Given the description of an element on the screen output the (x, y) to click on. 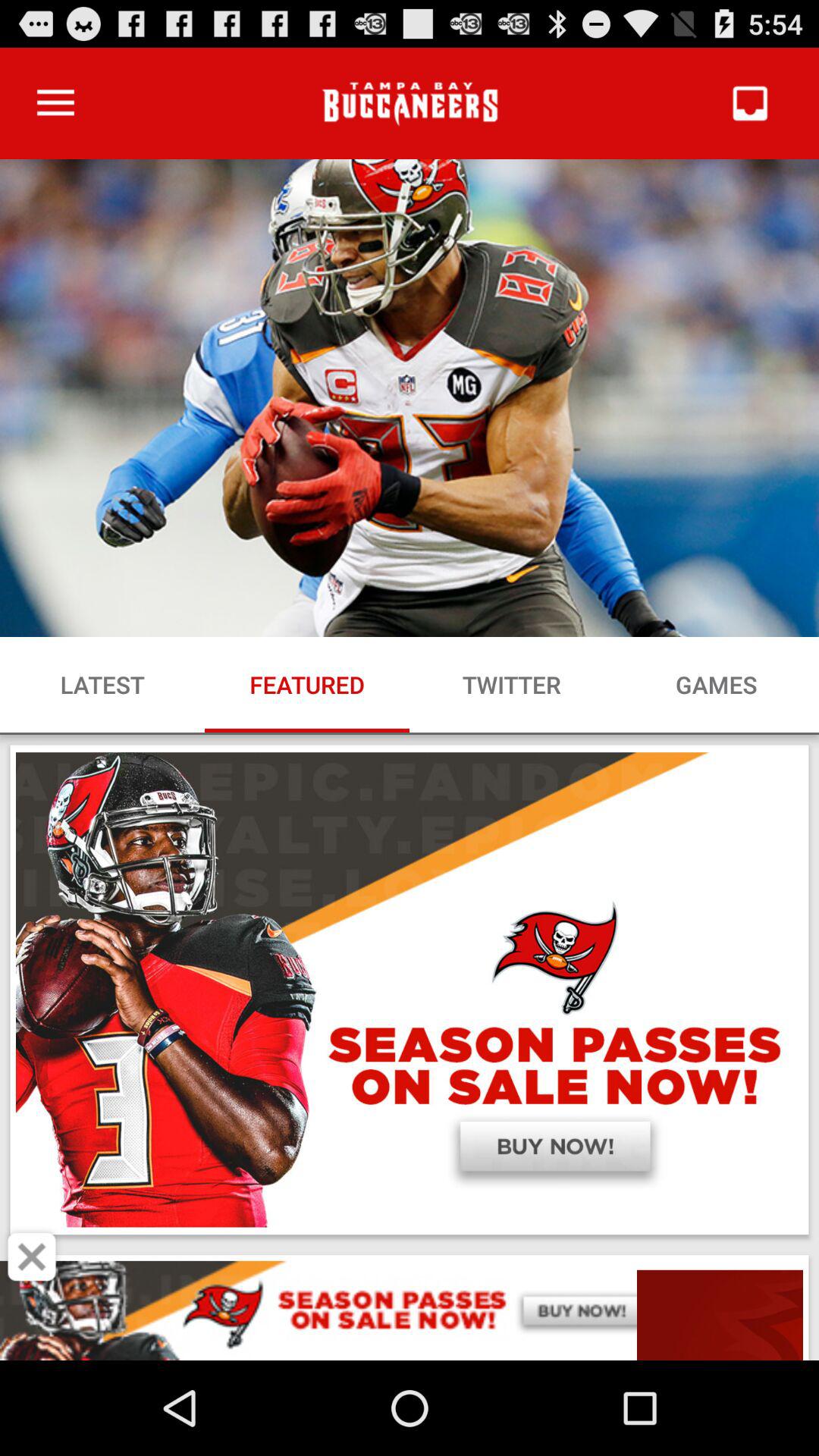
advertisement (409, 1310)
